Given the description of an element on the screen output the (x, y) to click on. 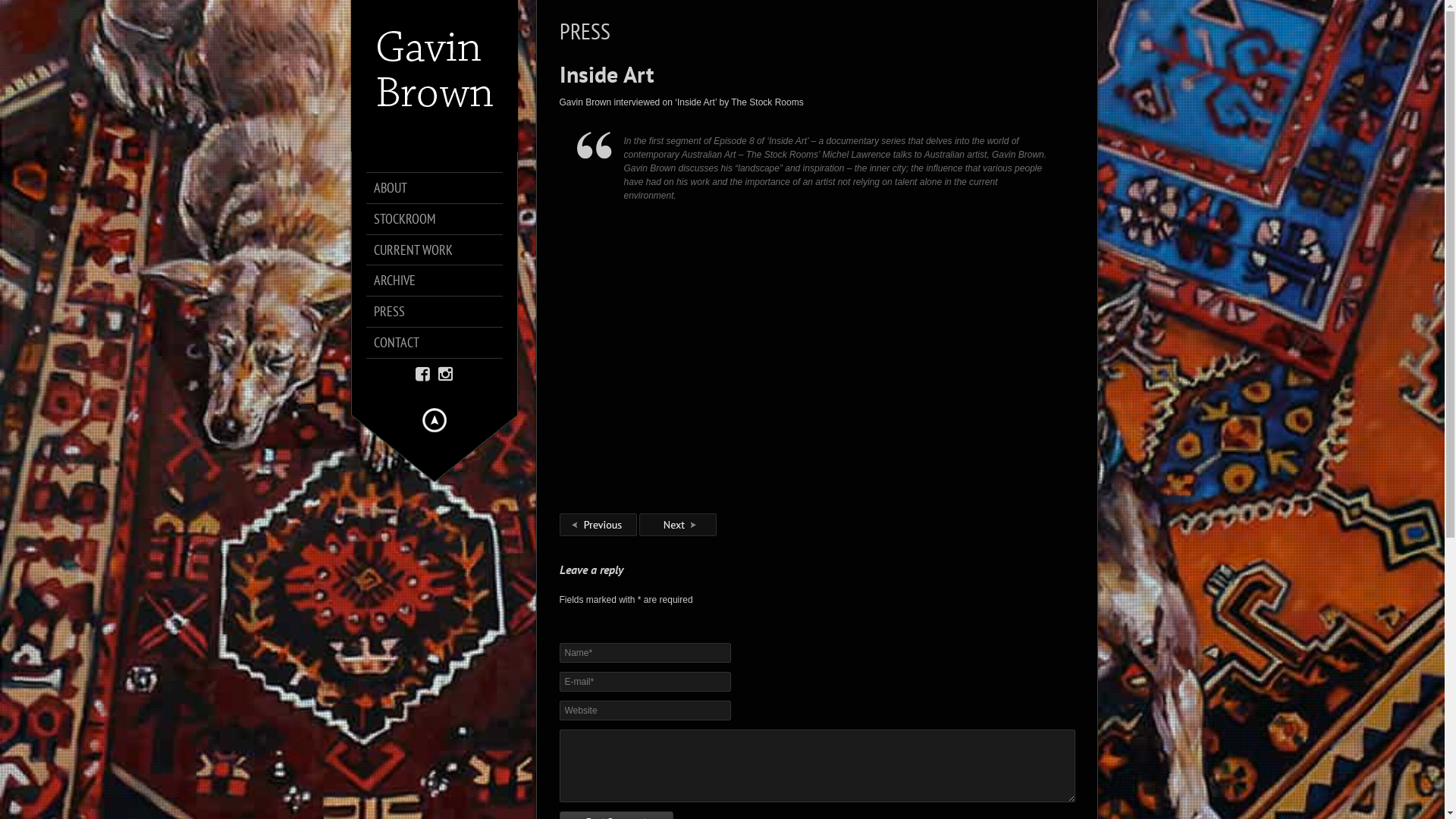
Next-button Element type: hover (677, 524)
Prev-button Element type: hover (598, 524)
ABOUT Element type: text (441, 187)
Instagram Element type: hover (445, 373)
CONTACT Element type: text (441, 342)
ARCHIVE Element type: text (441, 280)
CURRENT WORK Element type: text (441, 249)
Luxury (Romania) Element type: hover (598, 532)
Gavin Brown Element type: hover (433, 75)
PRESS Element type: text (441, 311)
Hide the navigation Element type: hover (433, 419)
Velvet (Venezuela) Element type: hover (677, 532)
Facebook Element type: hover (422, 373)
Inside Art Element type: text (606, 73)
STOCKROOM Element type: text (441, 218)
Gavin Brown Element type: hover (433, 200)
